Given the description of an element on the screen output the (x, y) to click on. 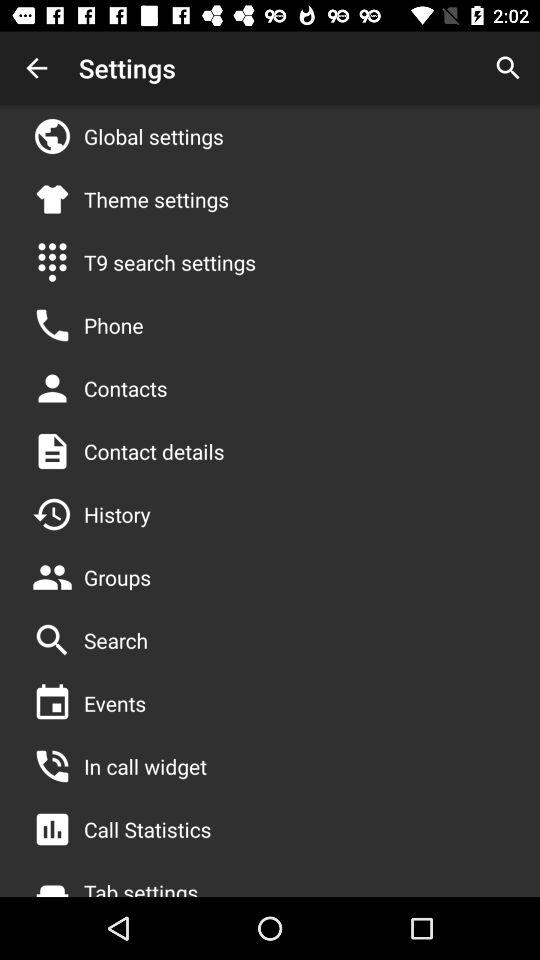
tap in call widget item (145, 766)
